Given the description of an element on the screen output the (x, y) to click on. 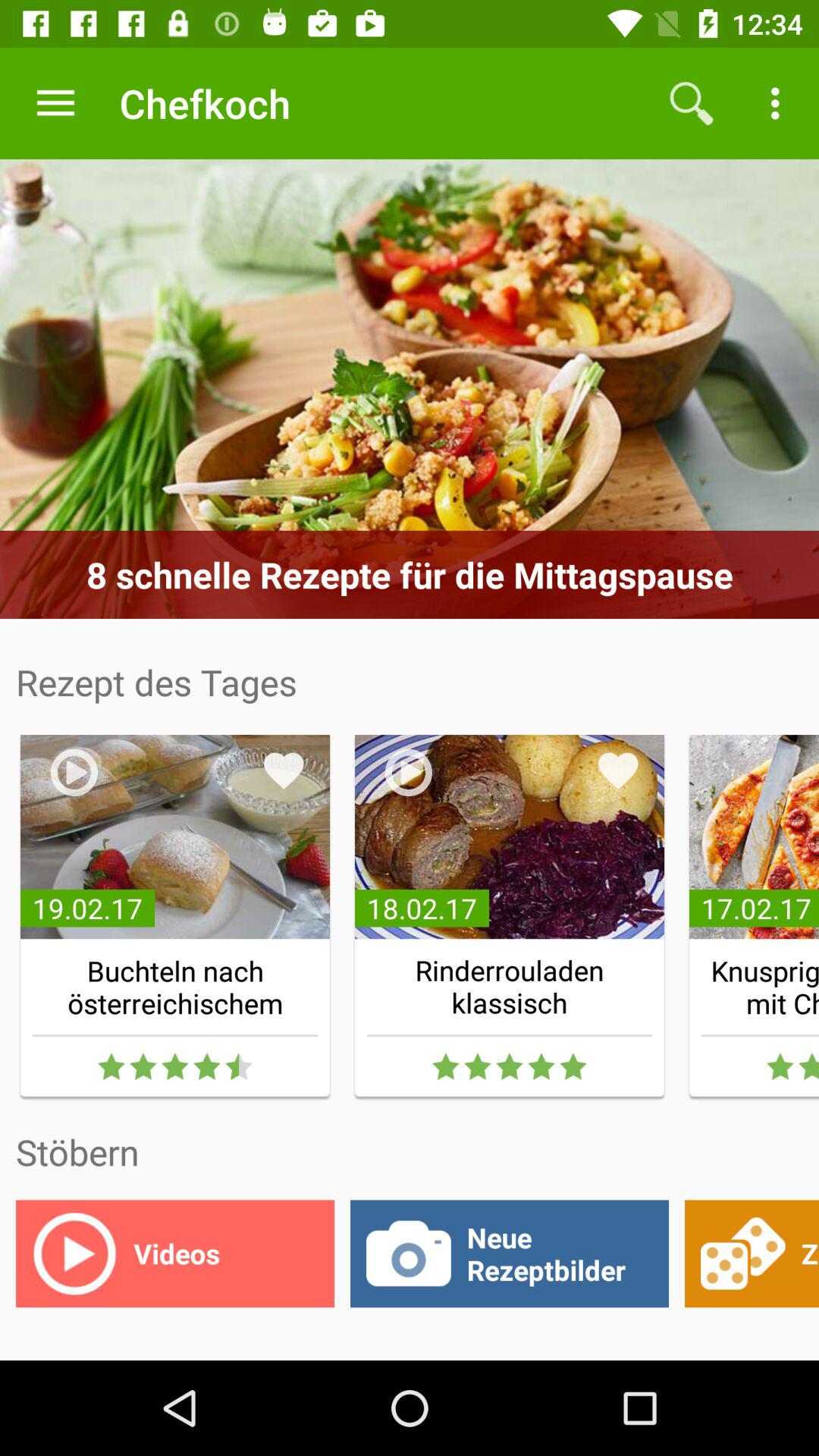
tap icon to the right of chefkoch item (691, 103)
